Given the description of an element on the screen output the (x, y) to click on. 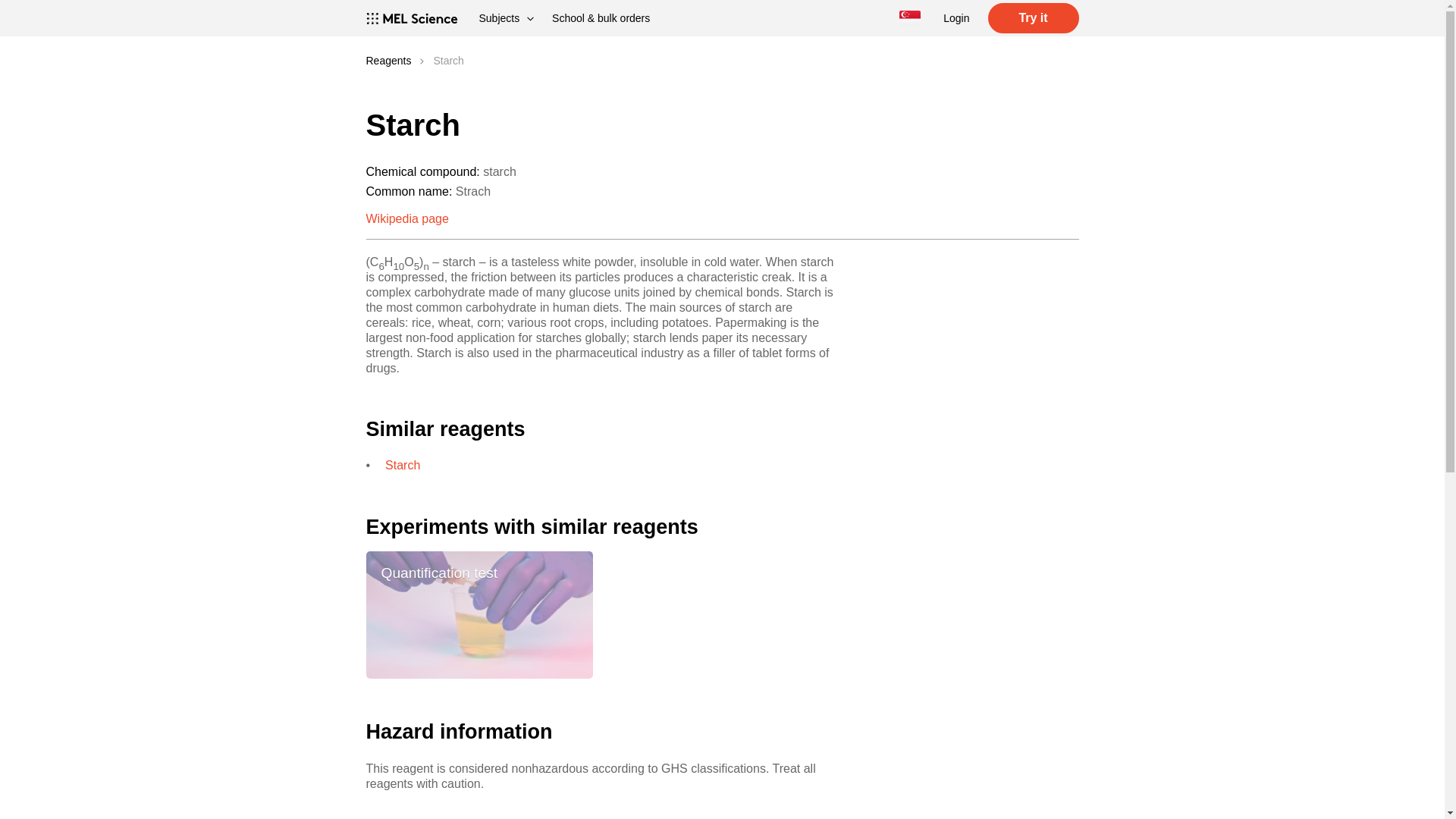
Wikipedia page (406, 218)
Starch (402, 464)
Login (956, 18)
Subjects (506, 18)
Starch (447, 60)
Opens a widget where you can find more information (1386, 792)
Try it (1032, 18)
Reagents (387, 60)
Change country (909, 18)
